Given the description of an element on the screen output the (x, y) to click on. 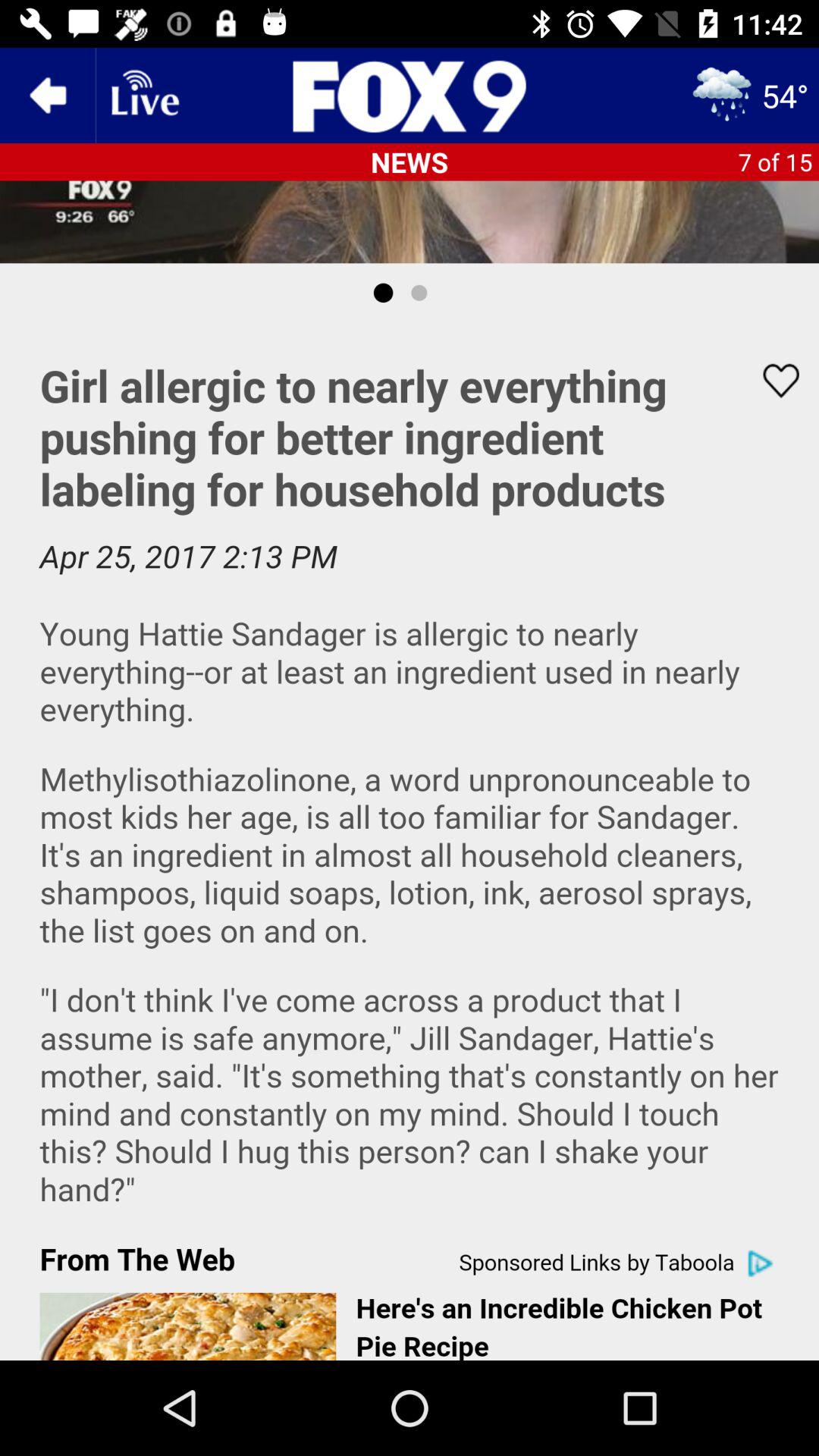
title icon (409, 95)
